Given the description of an element on the screen output the (x, y) to click on. 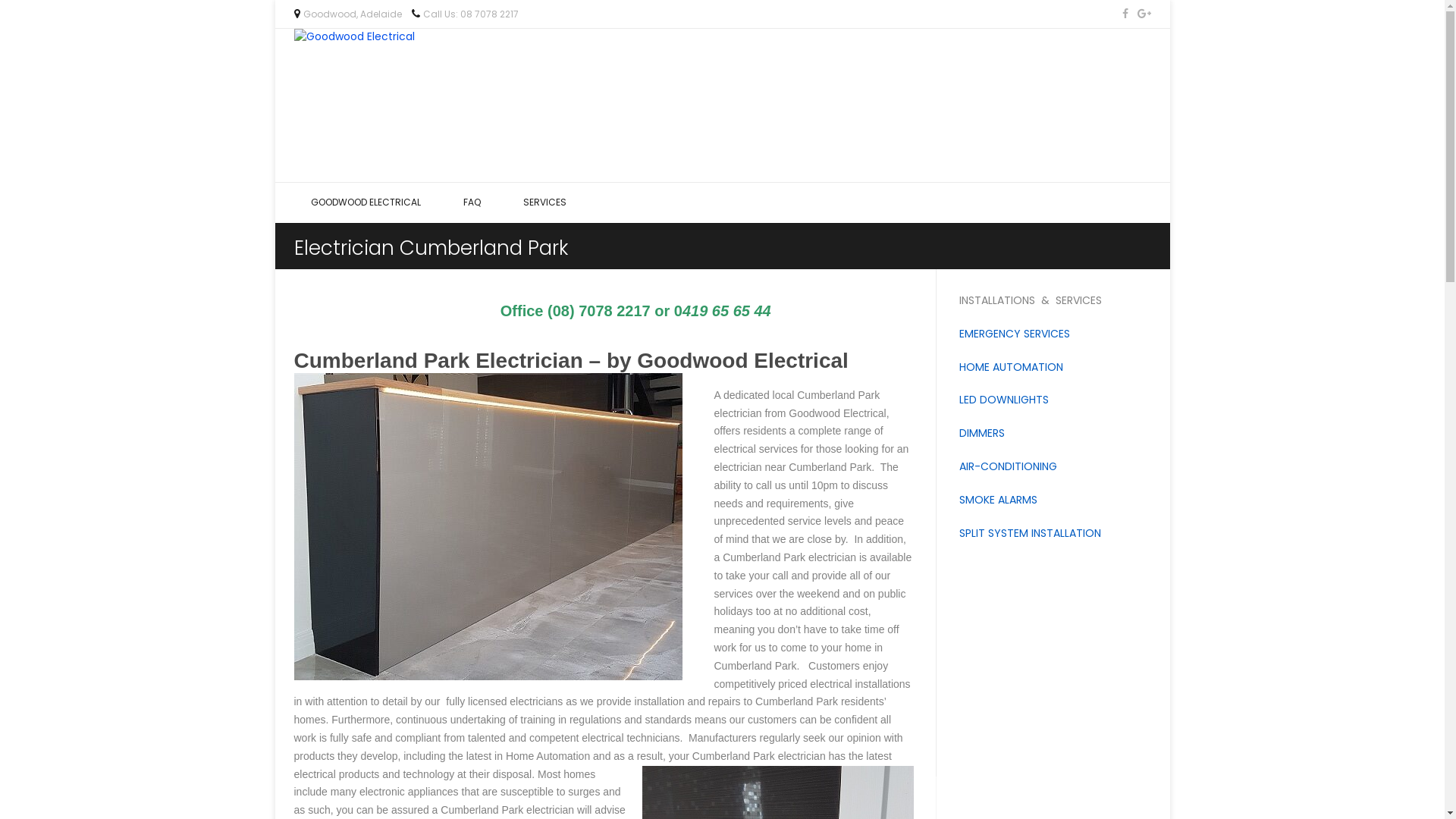
FAQ Element type: text (470, 202)
SMOKE ALARMS Element type: text (998, 499)
Find Us on Google Plus Element type: hover (1142, 14)
HOME AUTOMATION Element type: text (1011, 366)
AIR-CONDITIONING Element type: text (1008, 465)
Find Us on Facebook Element type: hover (1125, 14)
SPLIT SYSTEM INSTALLATION Element type: text (1030, 532)
LED DOWNLIGHTS Element type: text (1003, 399)
DIMMERS Element type: text (981, 432)
SERVICES Element type: text (544, 202)
GOODWOOD ELECTRICAL Element type: text (365, 202)
EMERGENCY SERVICES Element type: text (1014, 333)
